Given the description of an element on the screen output the (x, y) to click on. 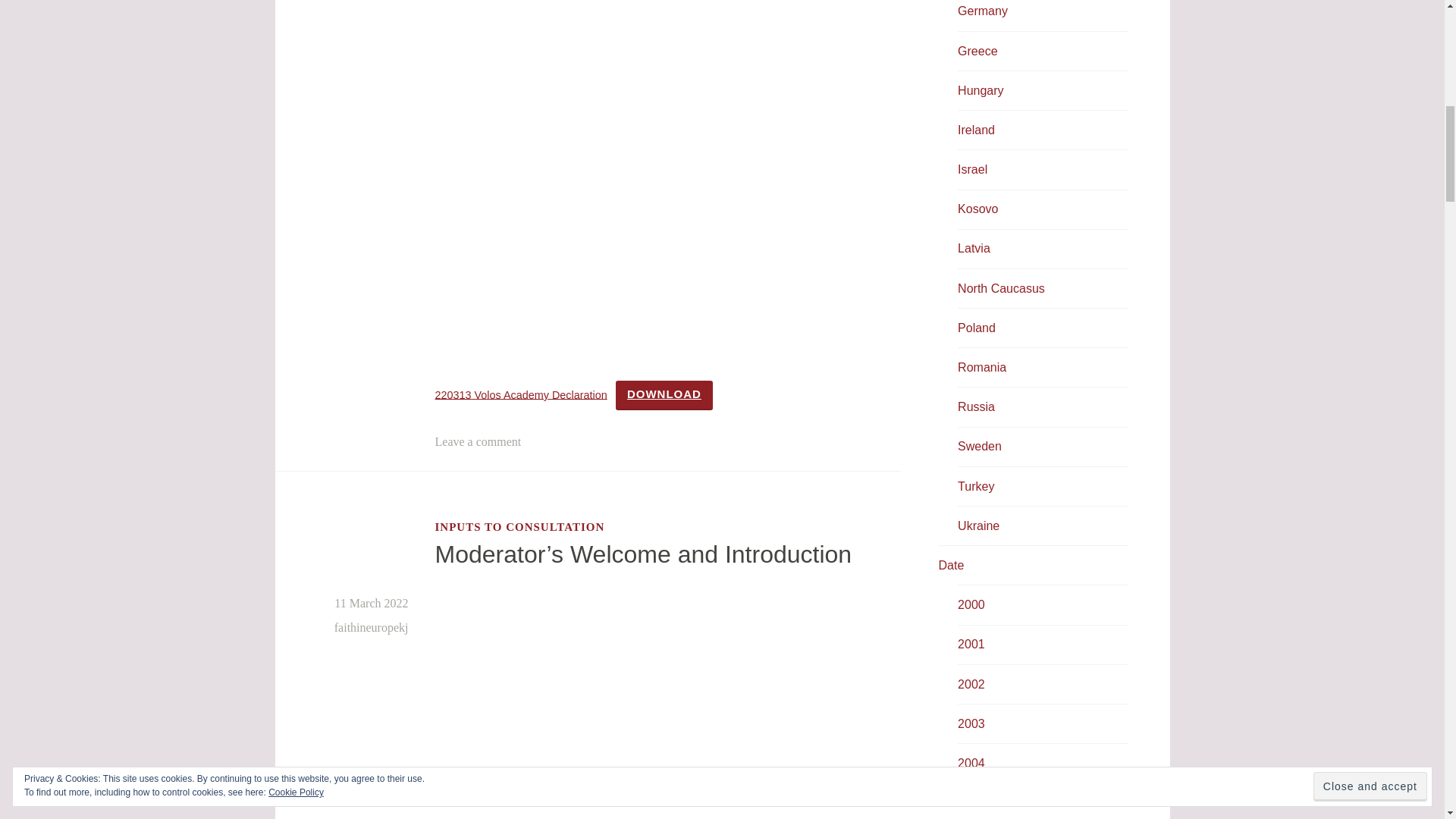
220313 Volos Academy Declaration (521, 394)
faithineuropekj (371, 626)
11 March 2022 (370, 603)
INPUTS TO CONSULTATION (520, 526)
Leave a comment (478, 440)
DOWNLOAD (664, 395)
